Given the description of an element on the screen output the (x, y) to click on. 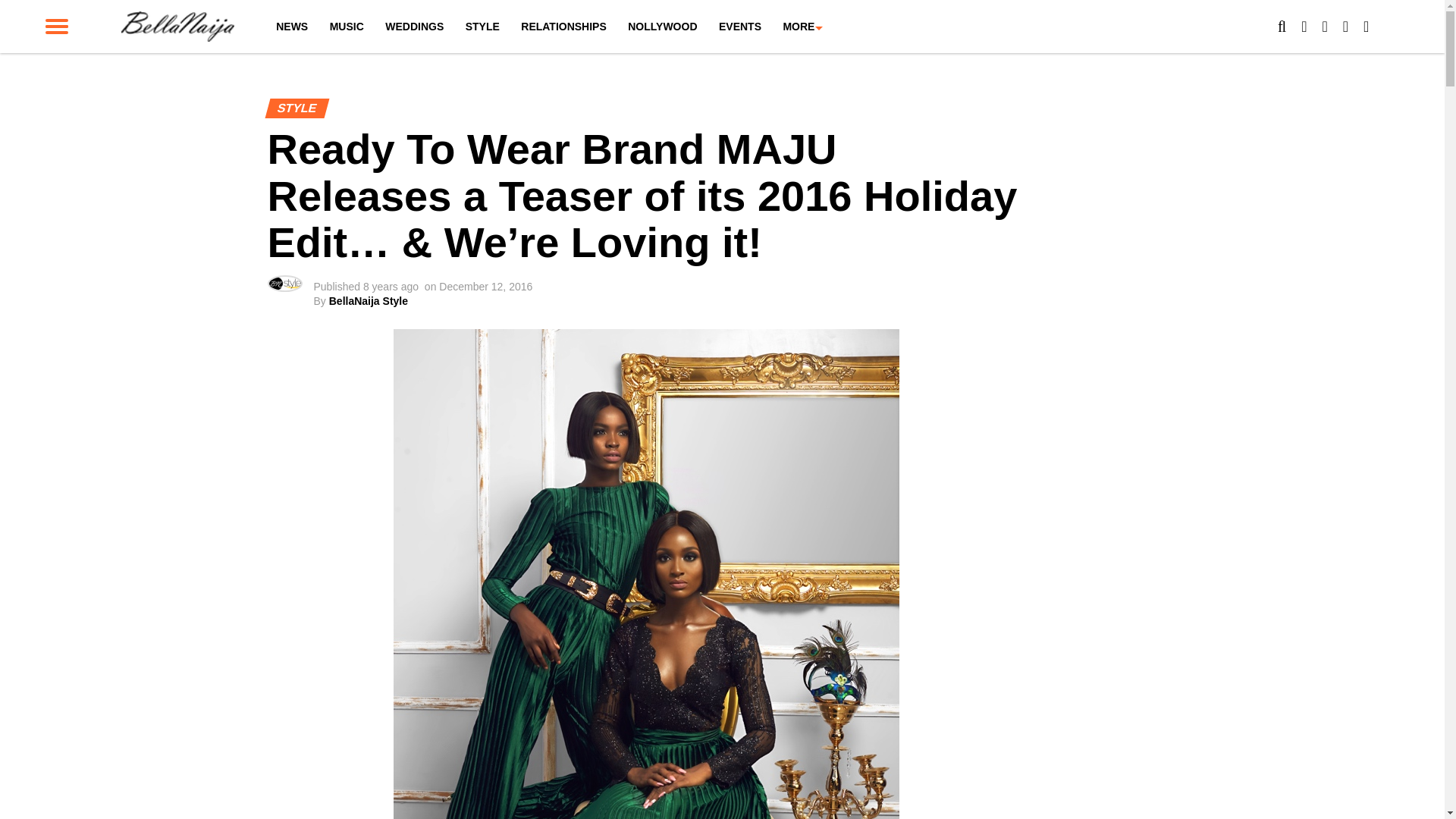
NOLLYWOOD (662, 26)
STYLE (482, 26)
RELATIONSHIPS (563, 26)
NEWS (291, 26)
MUSIC (346, 26)
MORE (798, 26)
EVENTS (740, 26)
WEDDINGS (413, 26)
